Given the description of an element on the screen output the (x, y) to click on. 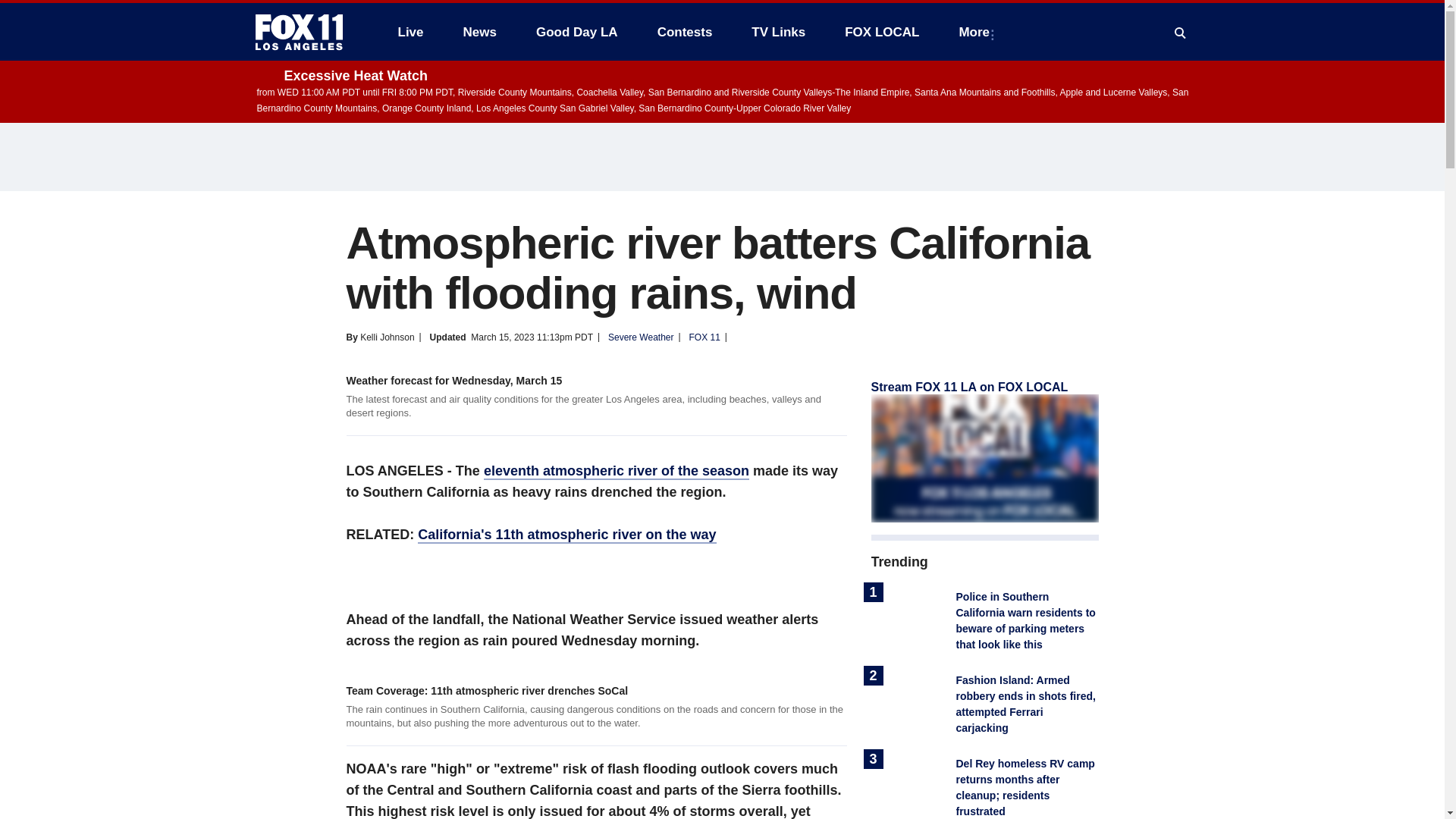
More (976, 32)
Live (410, 32)
Contests (685, 32)
Good Day LA (577, 32)
TV Links (777, 32)
News (479, 32)
FOX LOCAL (881, 32)
